Given the description of an element on the screen output the (x, y) to click on. 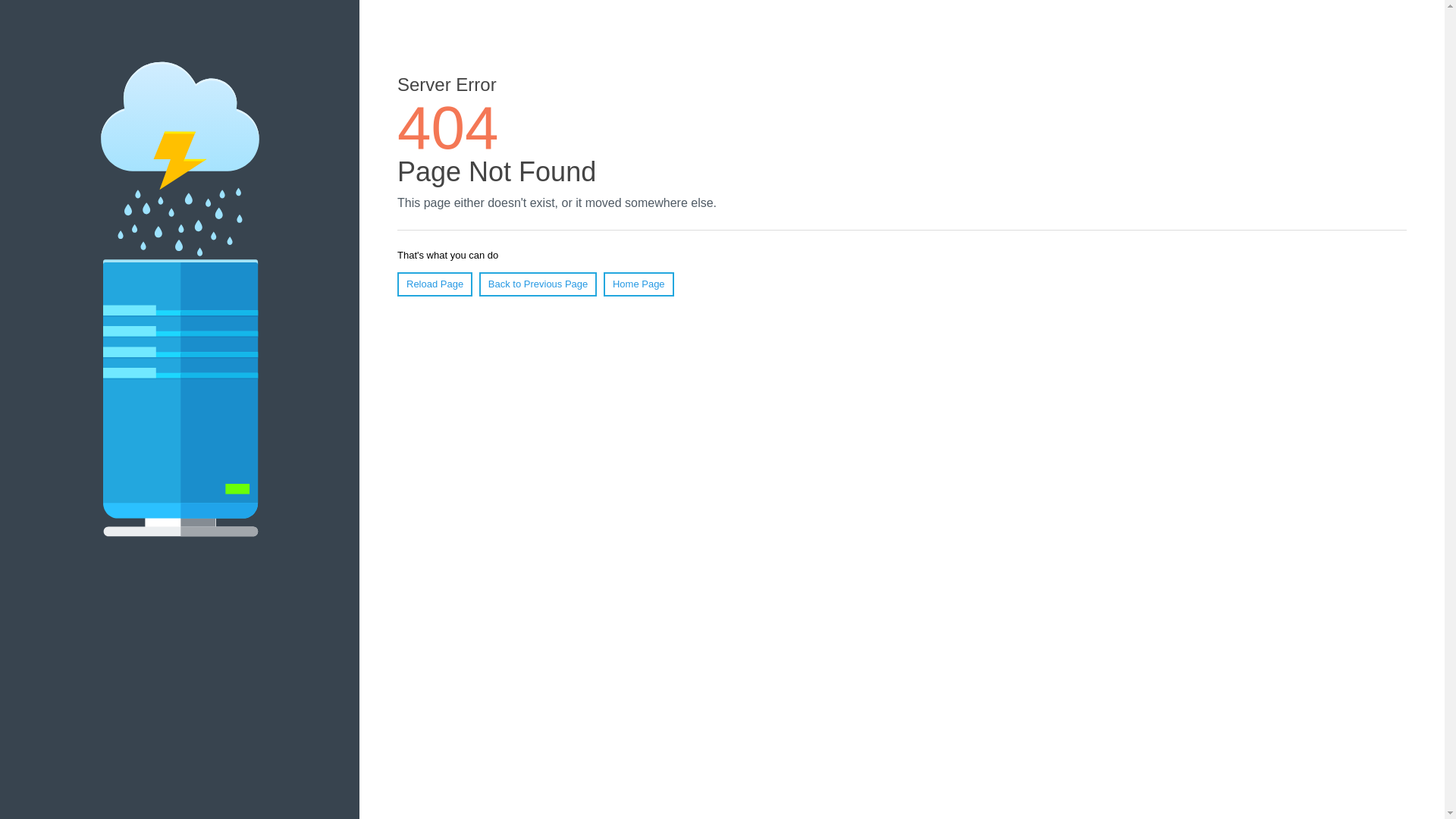
Back to Previous Page Element type: text (538, 284)
Reload Page Element type: text (434, 284)
Home Page Element type: text (638, 284)
